Given the description of an element on the screen output the (x, y) to click on. 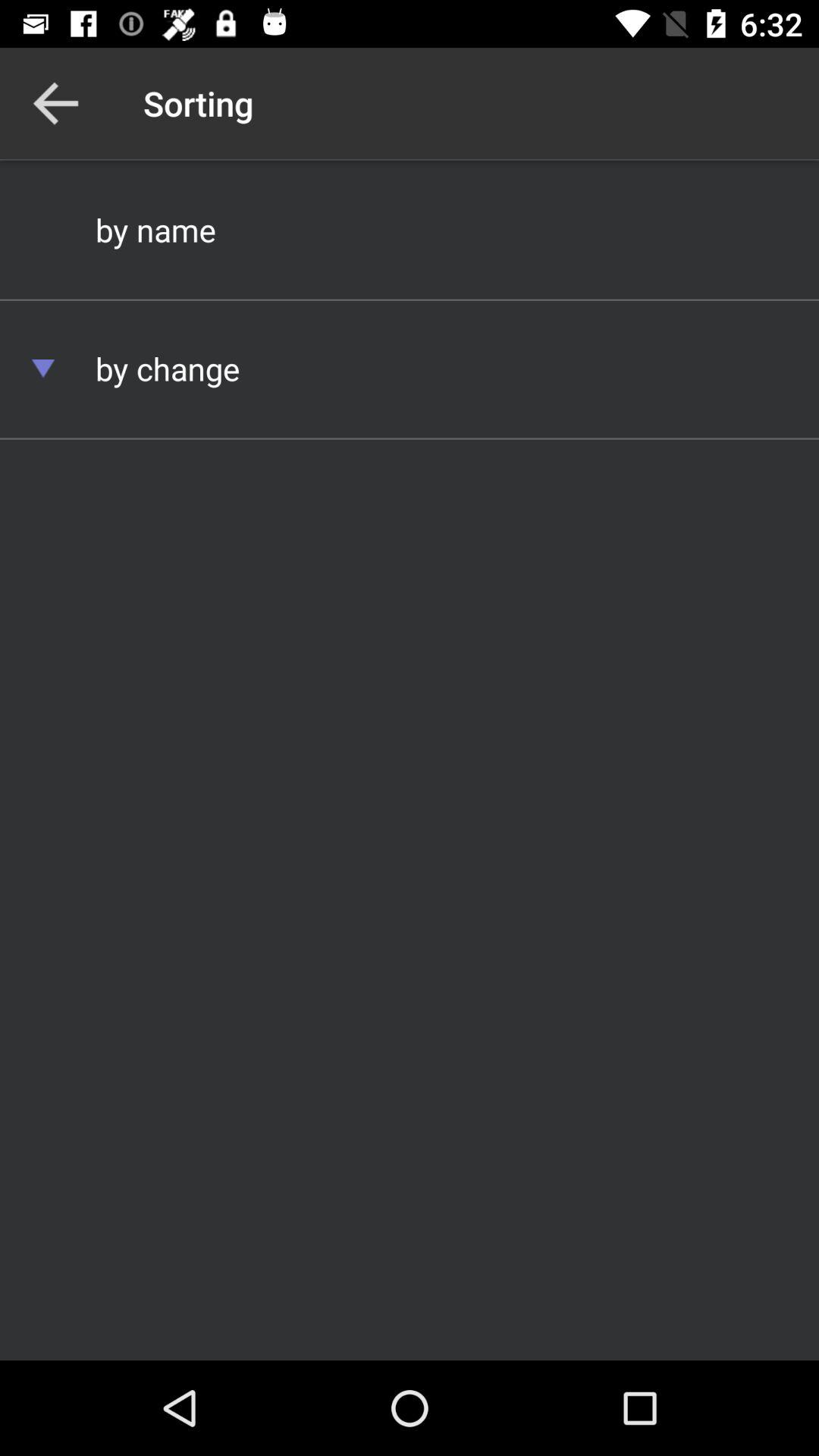
open icon above the by change item (409, 229)
